Given the description of an element on the screen output the (x, y) to click on. 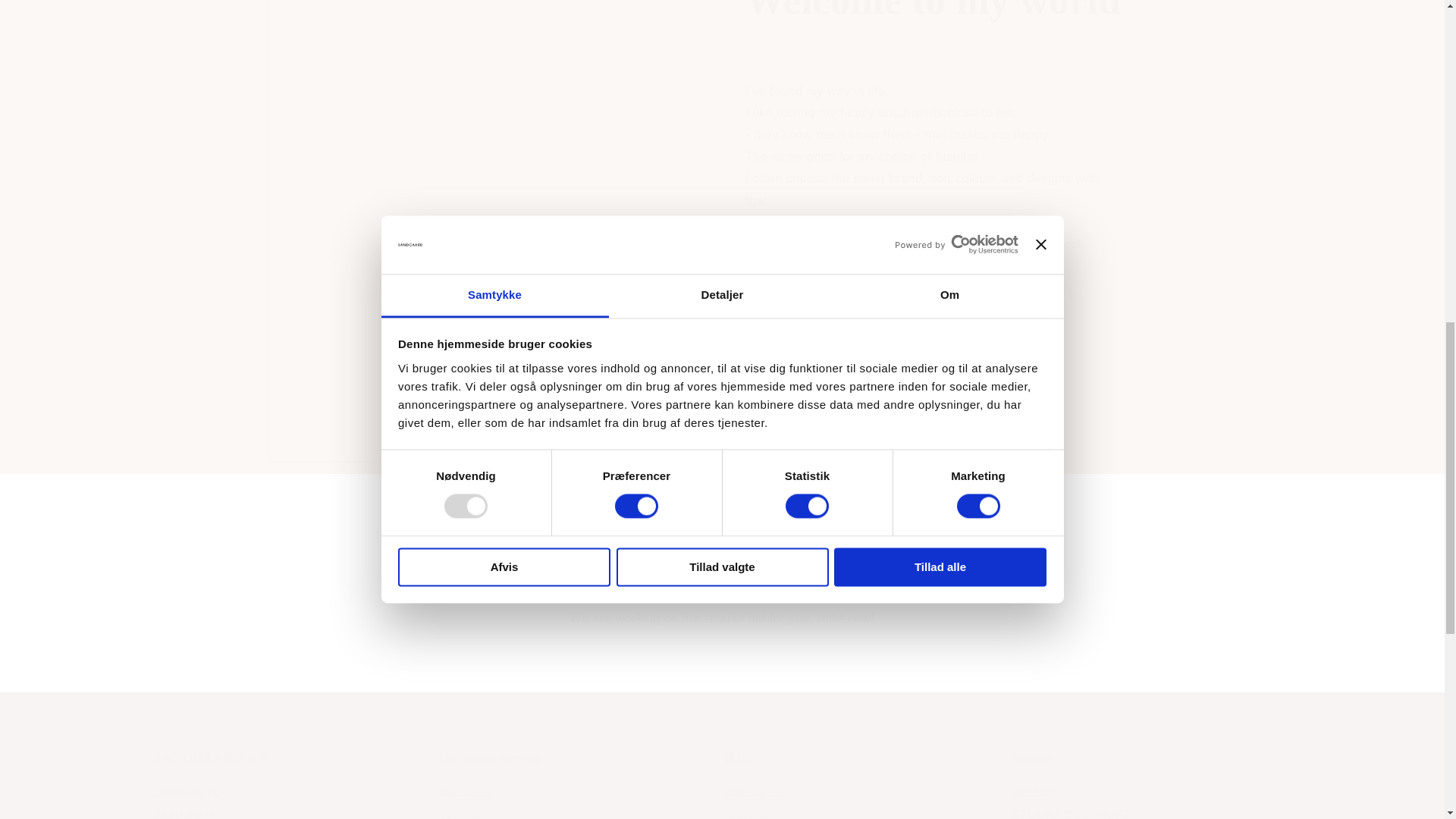
Find a store near you (1151, 784)
